Given the description of an element on the screen output the (x, y) to click on. 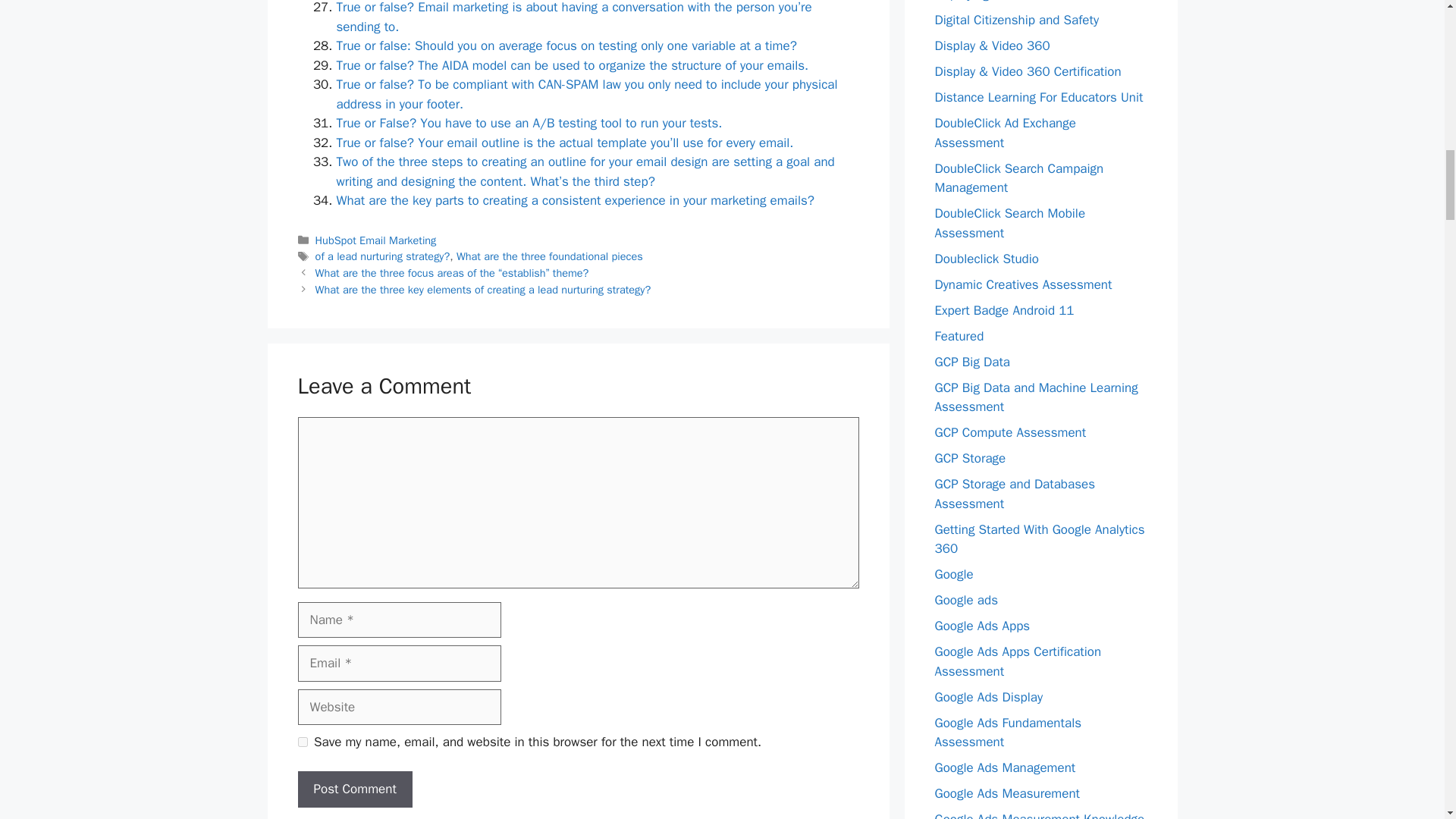
Post Comment (354, 789)
yes (302, 741)
